Given the description of an element on the screen output the (x, y) to click on. 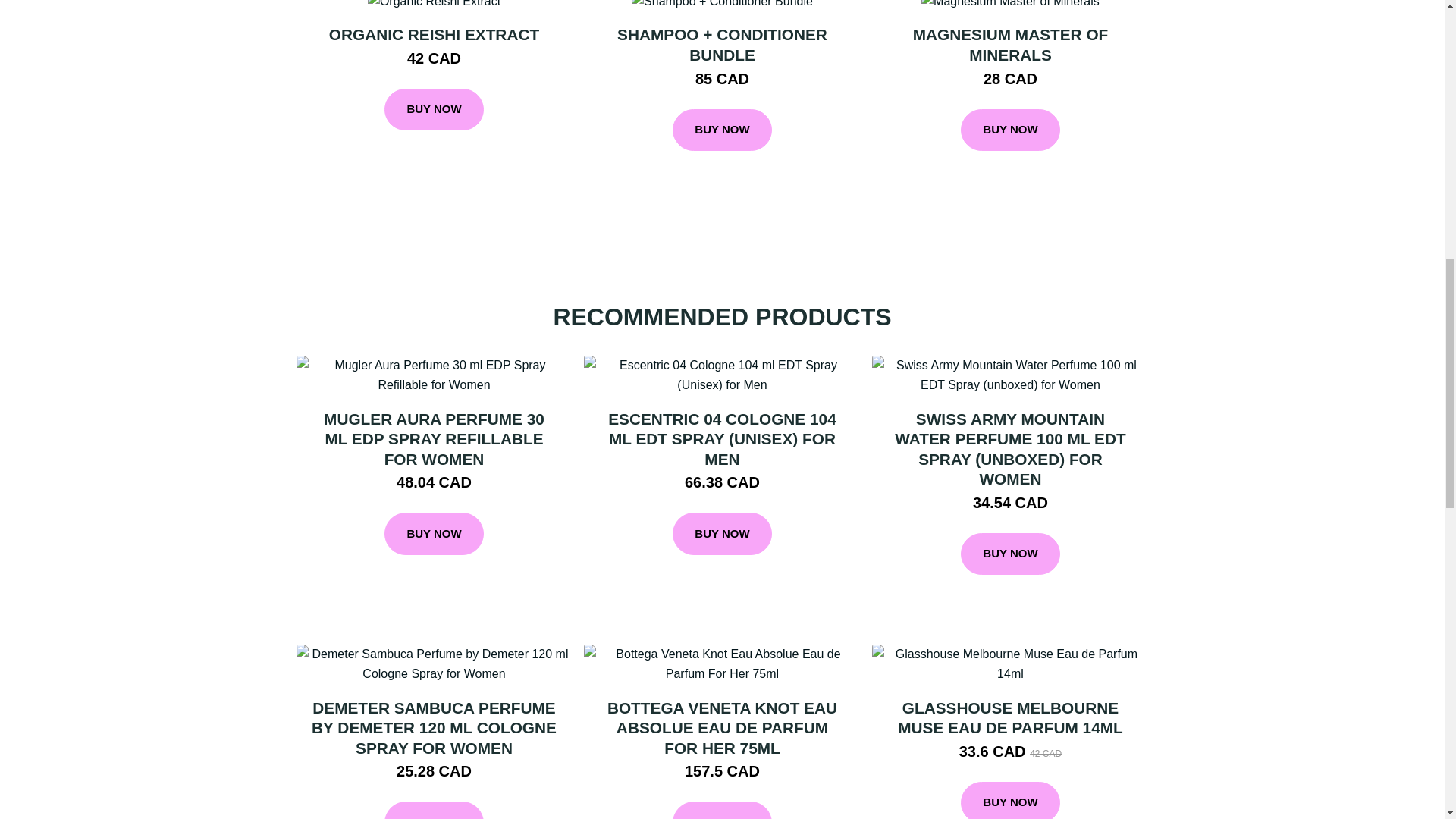
BUY NOW (433, 533)
ORGANIC REISHI EXTRACT (433, 34)
MAGNESIUM MASTER OF MINERALS (1010, 44)
BUY NOW (1009, 129)
BOTTEGA VENETA KNOT EAU ABSOLUE EAU DE PARFUM FOR HER 75ML (722, 727)
BUY NOW (721, 129)
BUY NOW (433, 109)
BUY NOW (433, 810)
BUY NOW (721, 533)
